Given the description of an element on the screen output the (x, y) to click on. 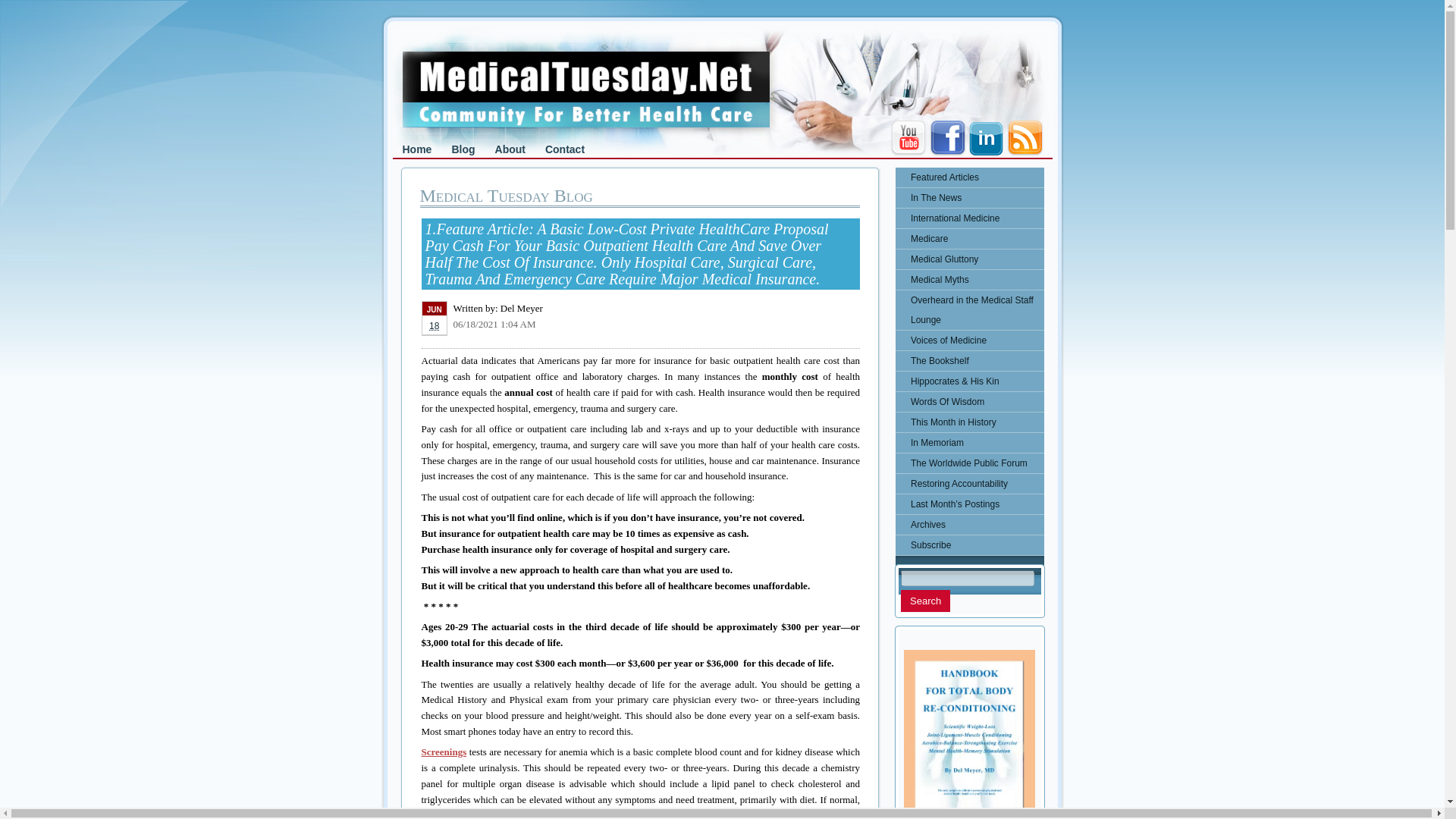
The Worldwide Public Forum (969, 463)
Screenings (444, 751)
The Bookshelf (969, 361)
About (509, 148)
In Memoriam (969, 442)
International Medicine (969, 218)
Blog (462, 148)
Voices of Medicine (969, 340)
Overheard in the Medical Staff Lounge (969, 310)
Medicare (969, 238)
